Given the description of an element on the screen output the (x, y) to click on. 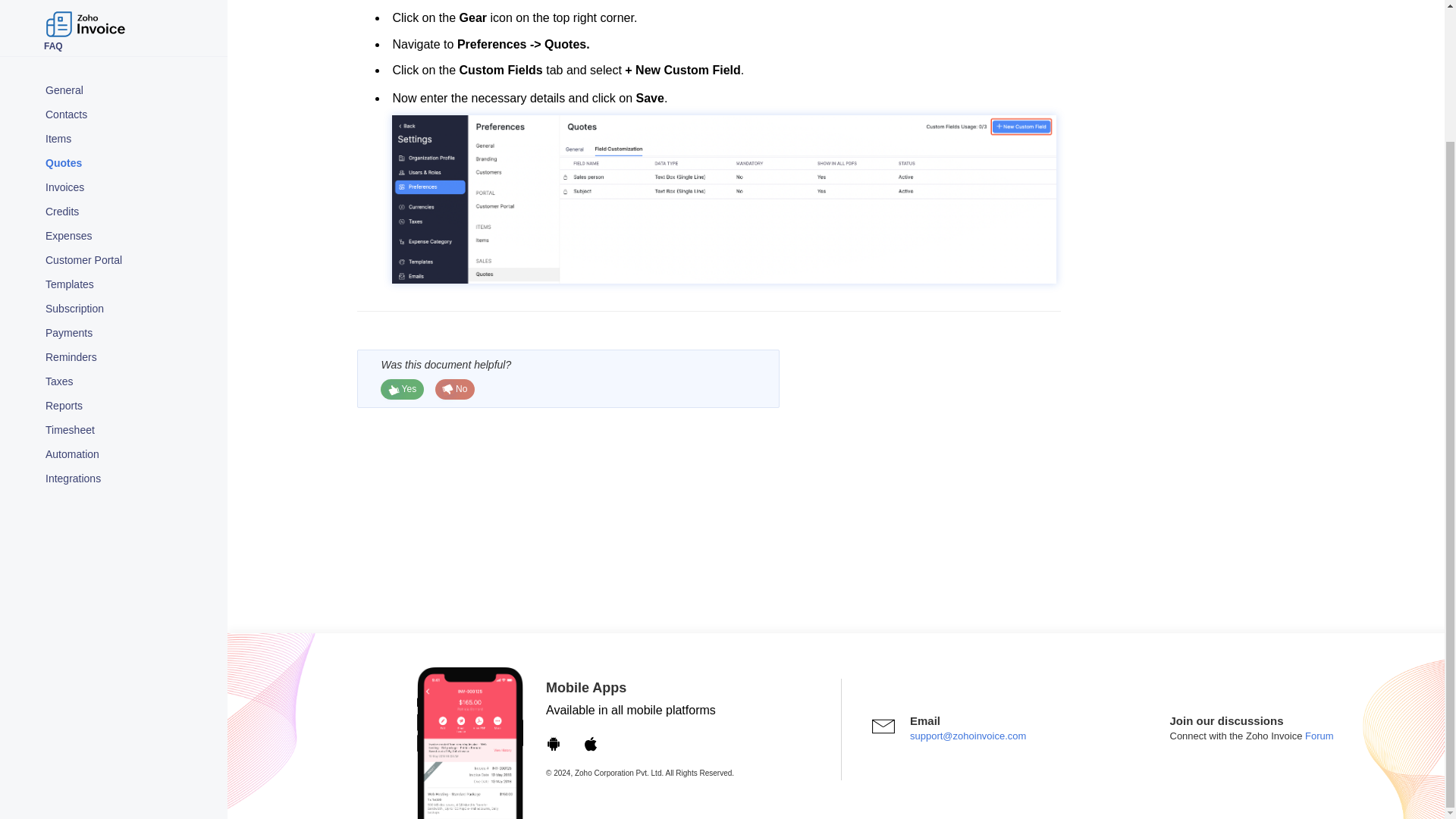
Subscription (129, 148)
Reminders (129, 196)
Templates (129, 124)
Invoices (129, 26)
Expenses (129, 75)
Automation (129, 293)
Forum (1317, 736)
Payments (129, 172)
Reports (129, 245)
Taxes (129, 220)
